Given the description of an element on the screen output the (x, y) to click on. 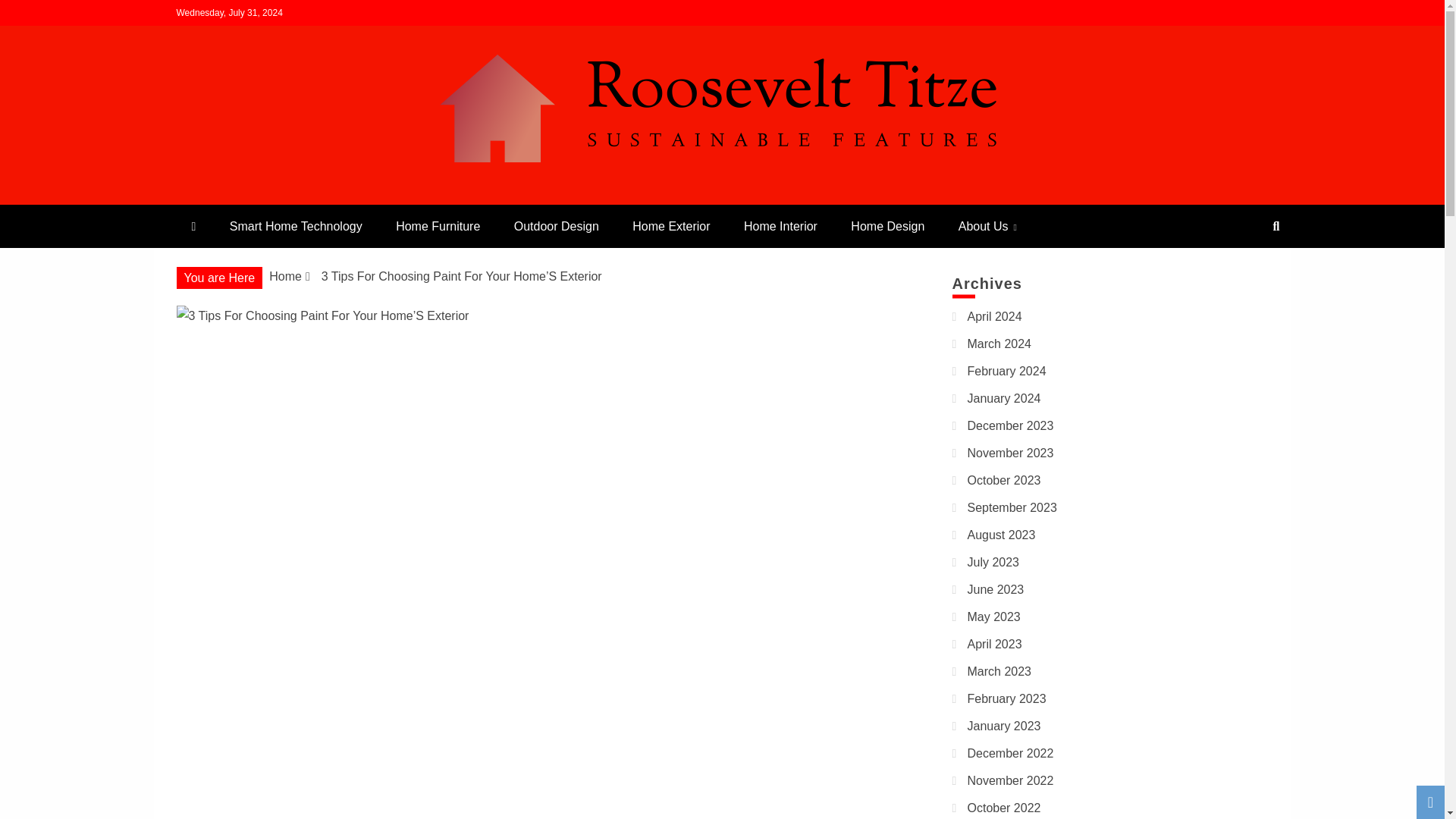
About Us (987, 226)
Home Exterior (671, 226)
Outdoor Design (556, 226)
Home (285, 276)
Home Design (887, 226)
Home Interior (780, 226)
Home Furniture (437, 226)
Smart Home Technology (295, 226)
Roosevelt Titze (281, 197)
Search (31, 13)
